Given the description of an element on the screen output the (x, y) to click on. 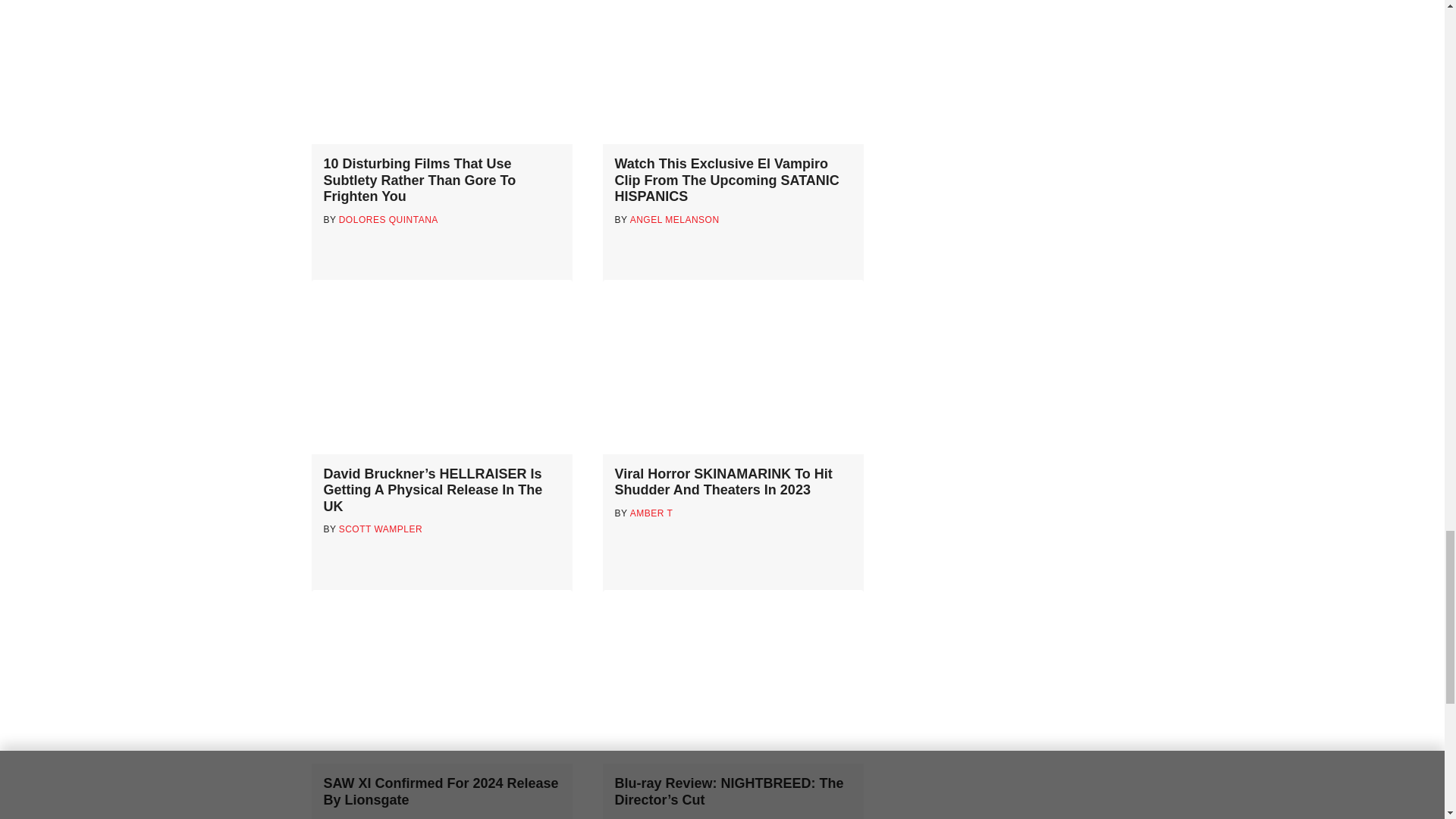
DOLORES QUINTANA (388, 219)
